Given the description of an element on the screen output the (x, y) to click on. 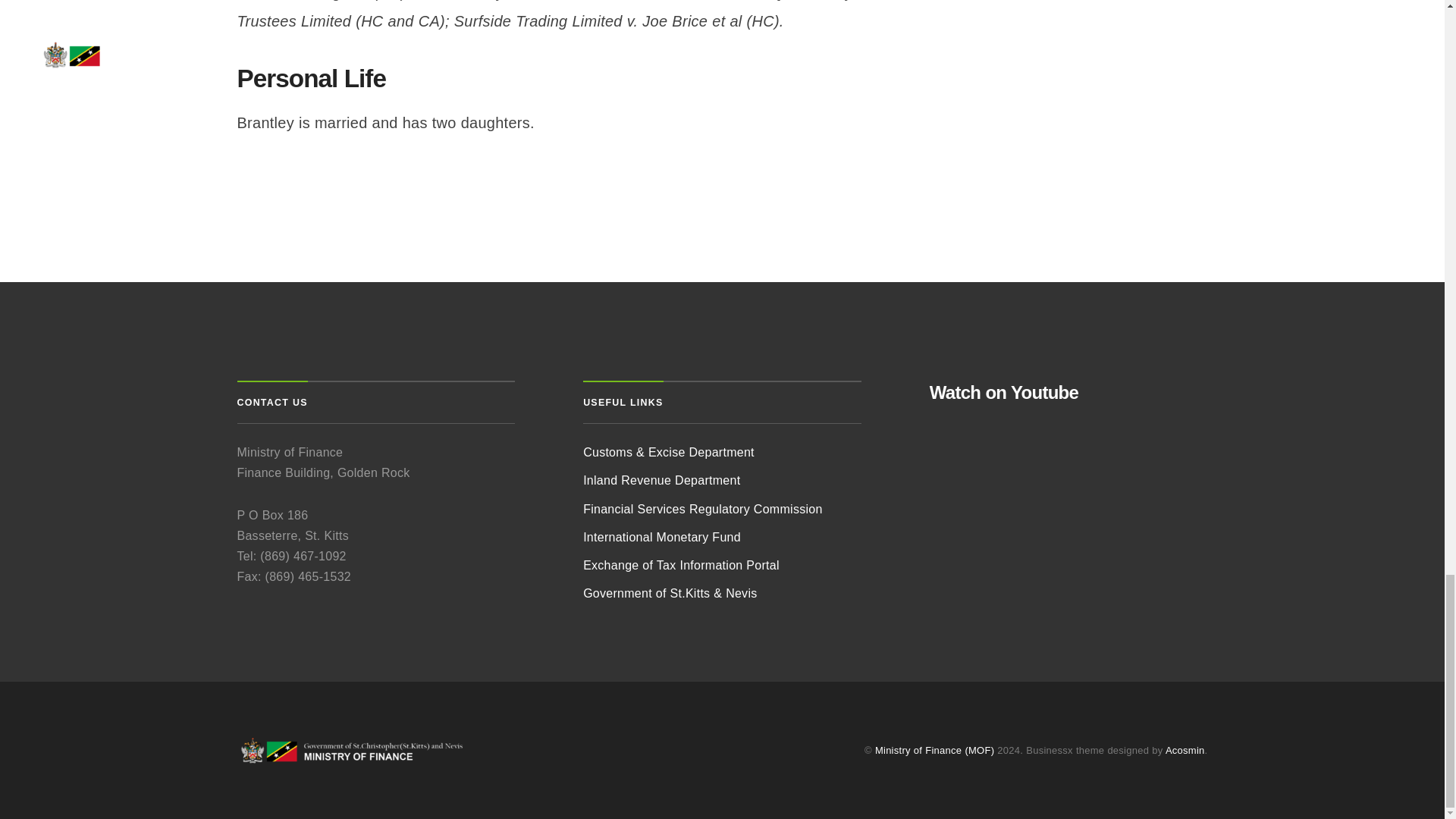
Financial Services Regulatory Commission (702, 508)
International Monetary Fund (662, 536)
Inland Revenue Department (661, 480)
Exchange of Tax Information Portal (680, 564)
Acosmin (1185, 749)
